Given the description of an element on the screen output the (x, y) to click on. 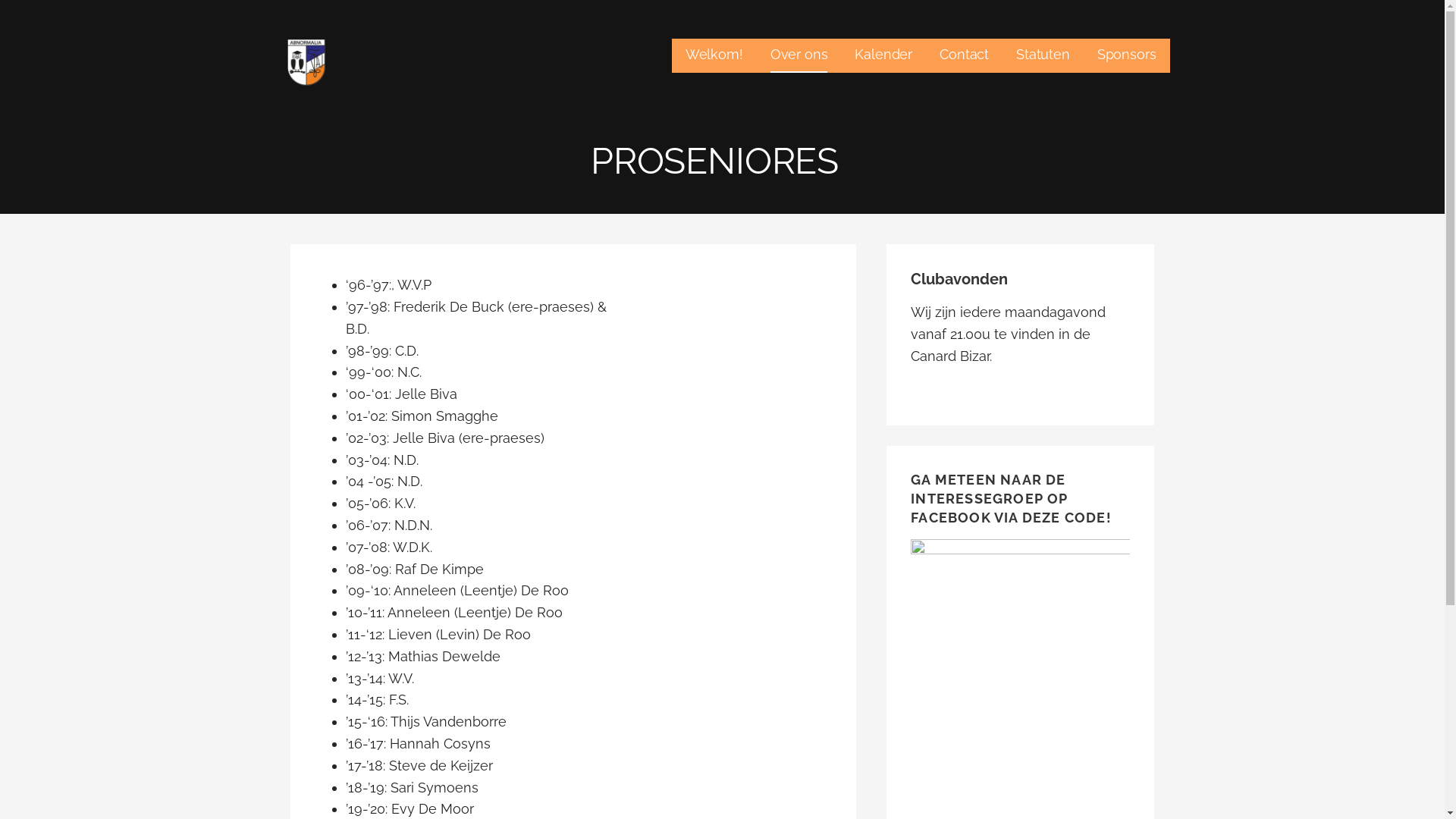
Welkom! Element type: text (714, 55)
Kalender Element type: text (883, 55)
Over ons Element type: text (799, 55)
Contact Element type: text (963, 55)
Abnormalia Element type: text (343, 95)
Sponsors Element type: text (1126, 55)
Statuten Element type: text (1043, 55)
